Given the description of an element on the screen output the (x, y) to click on. 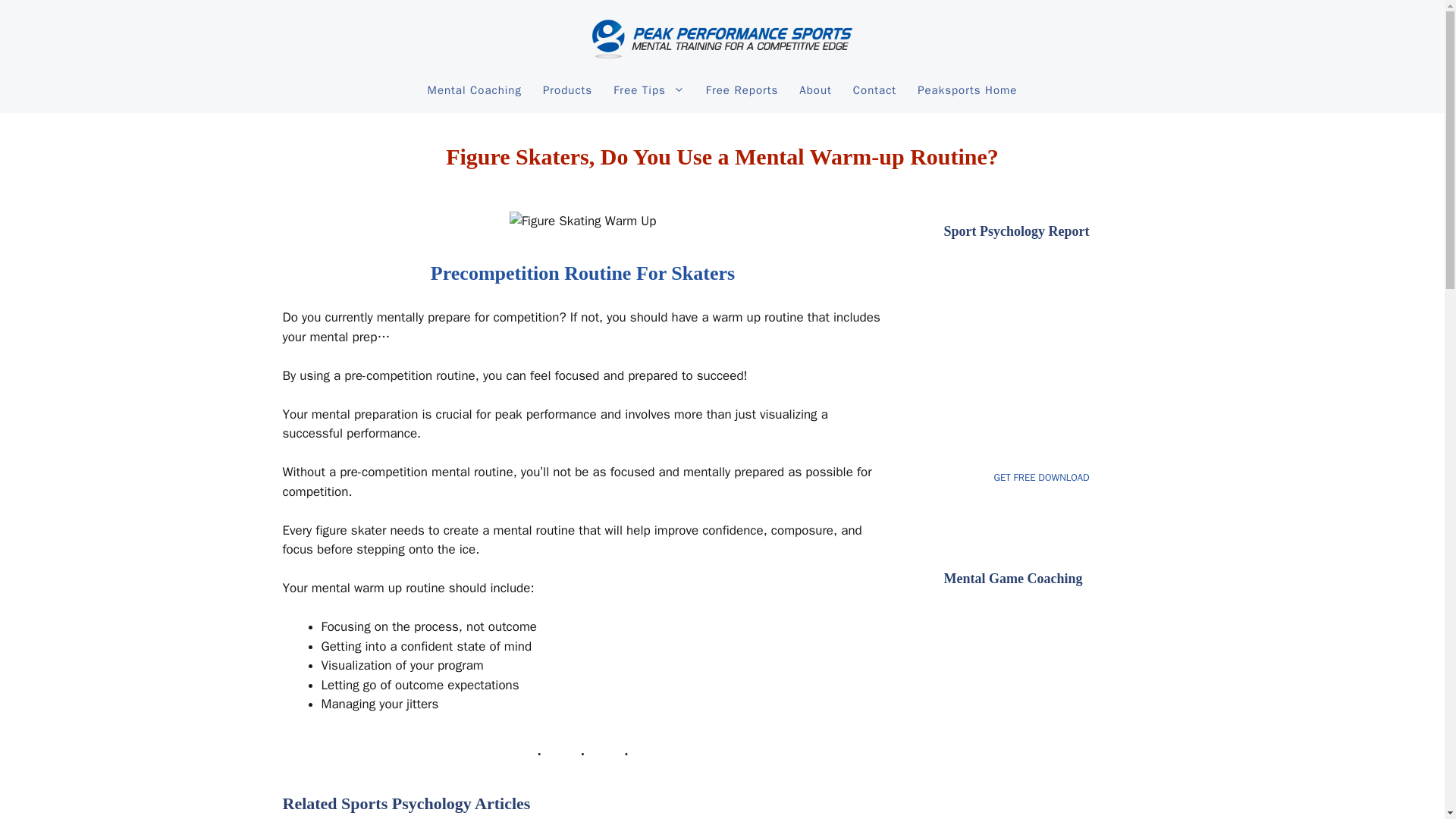
Free Reports (742, 90)
Peaksports Home (967, 90)
Contact (875, 90)
Mental Coaching (474, 90)
Products (567, 90)
About (815, 90)
Free Tips (648, 90)
